Given the description of an element on the screen output the (x, y) to click on. 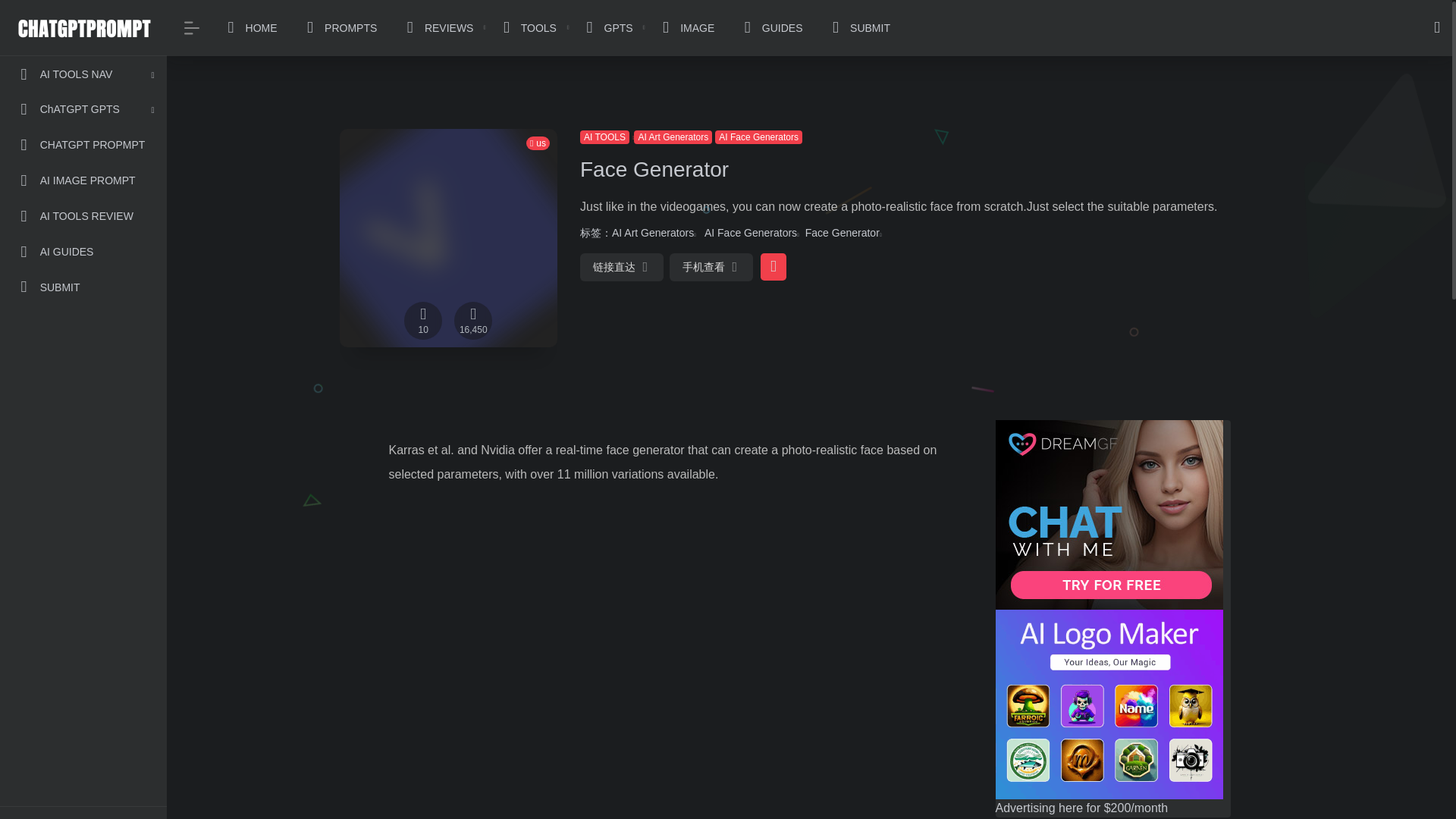
SUBMIT (82, 286)
AI IMAGE PROMPT (82, 180)
AI TOOLS NAV (82, 74)
AI GUIDES (82, 252)
ChATGPT GPTS (82, 109)
HOME (248, 28)
REVIEWS (436, 28)
PROMPTS (338, 28)
CHATGPT PROPMPT (82, 144)
AI TOOLS REVIEW (82, 216)
